Given the description of an element on the screen output the (x, y) to click on. 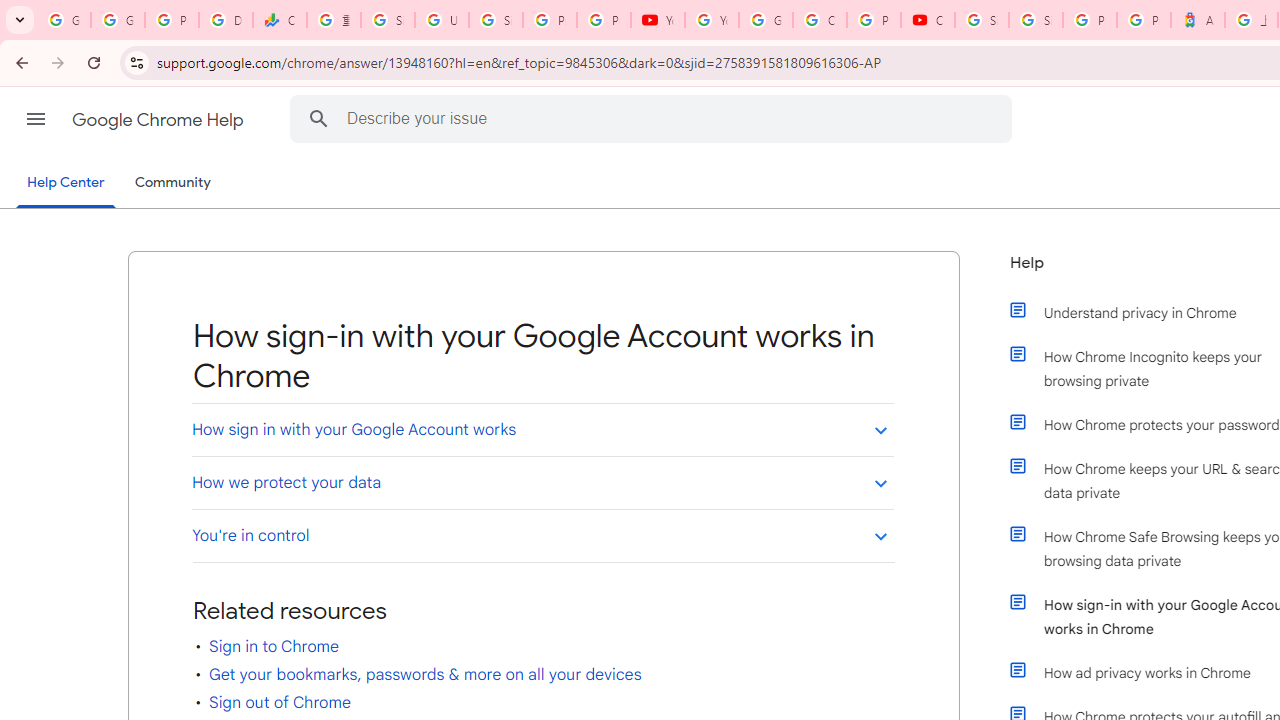
How sign in with your Google Account works (542, 429)
Sign in - Google Accounts (1035, 20)
Main menu (35, 119)
Help Center (65, 183)
Google Workspace Admin Community (63, 20)
Create your Google Account (819, 20)
Sign in - Google Accounts (981, 20)
